Given the description of an element on the screen output the (x, y) to click on. 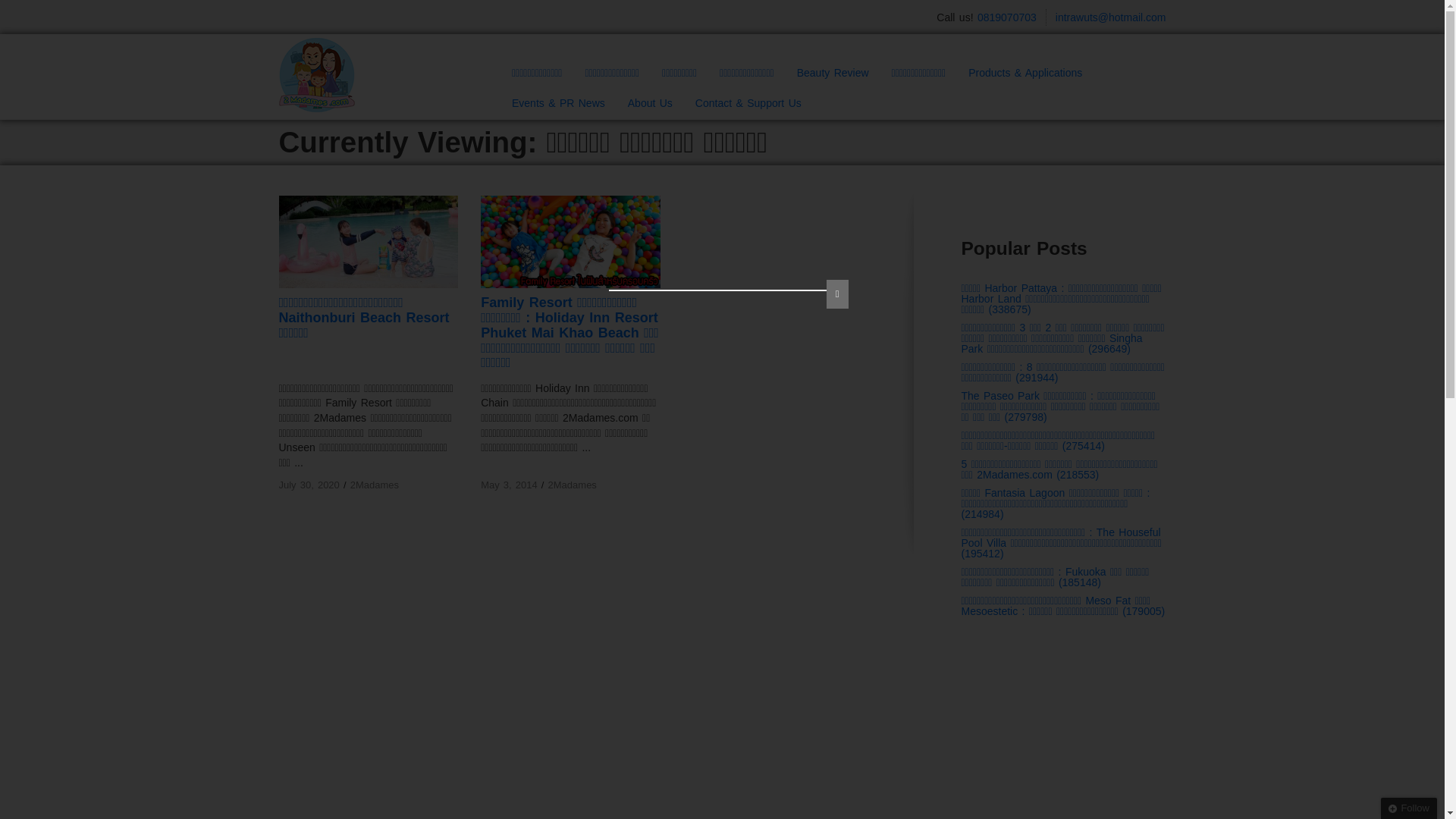
intrawuts@hotmail.com Element type: text (1110, 17)
Contact & Support Us Element type: text (748, 104)
About Us Element type: text (650, 104)
2Madames Element type: text (572, 484)
2Madames Element type: text (374, 484)
Products & Applications Element type: text (1025, 74)
Events & PR News Element type: text (558, 104)
Beauty Review Element type: text (832, 74)
